Given the description of an element on the screen output the (x, y) to click on. 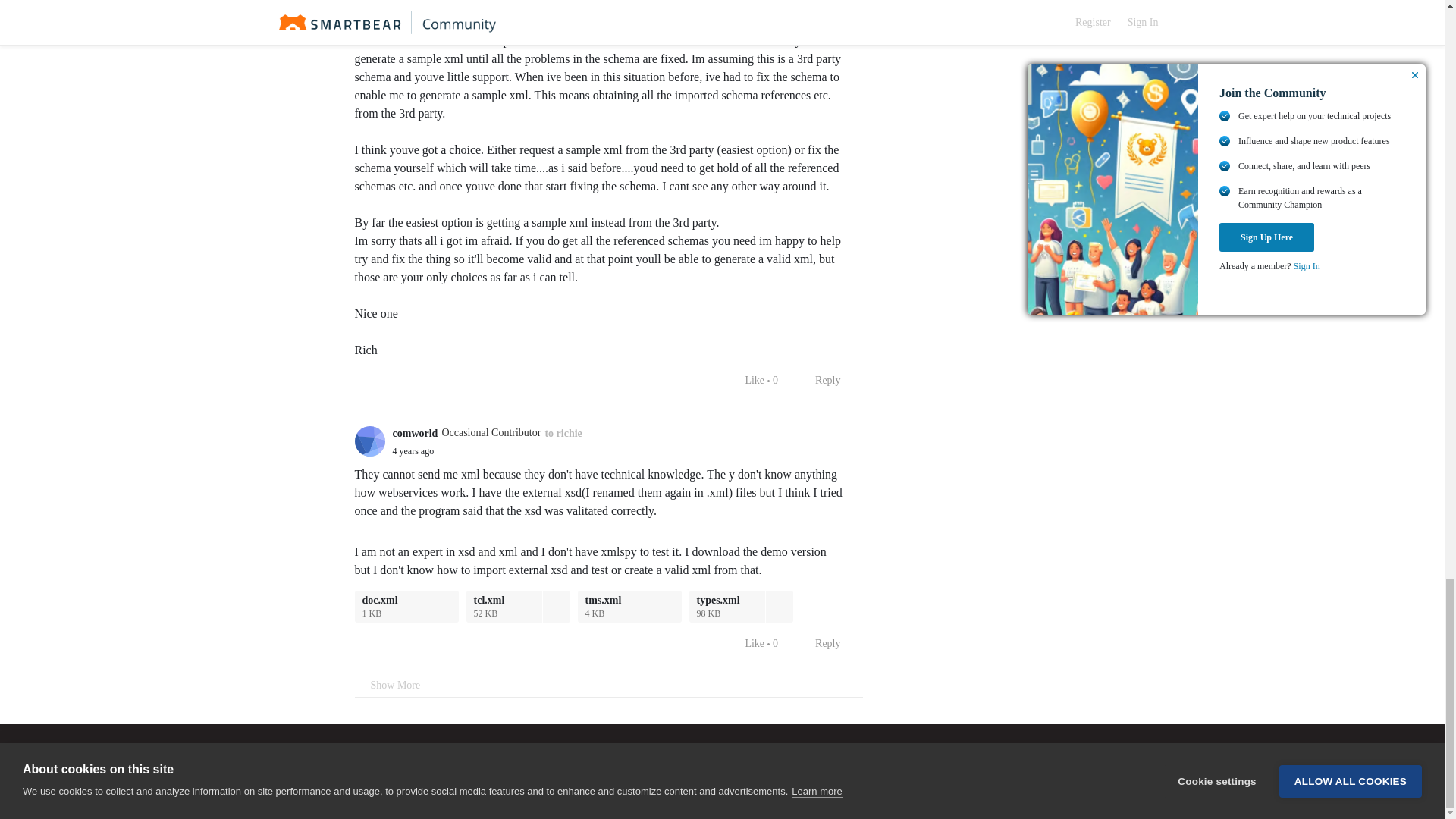
February 24, 2021 at 10:13 AM (413, 450)
